Given the description of an element on the screen output the (x, y) to click on. 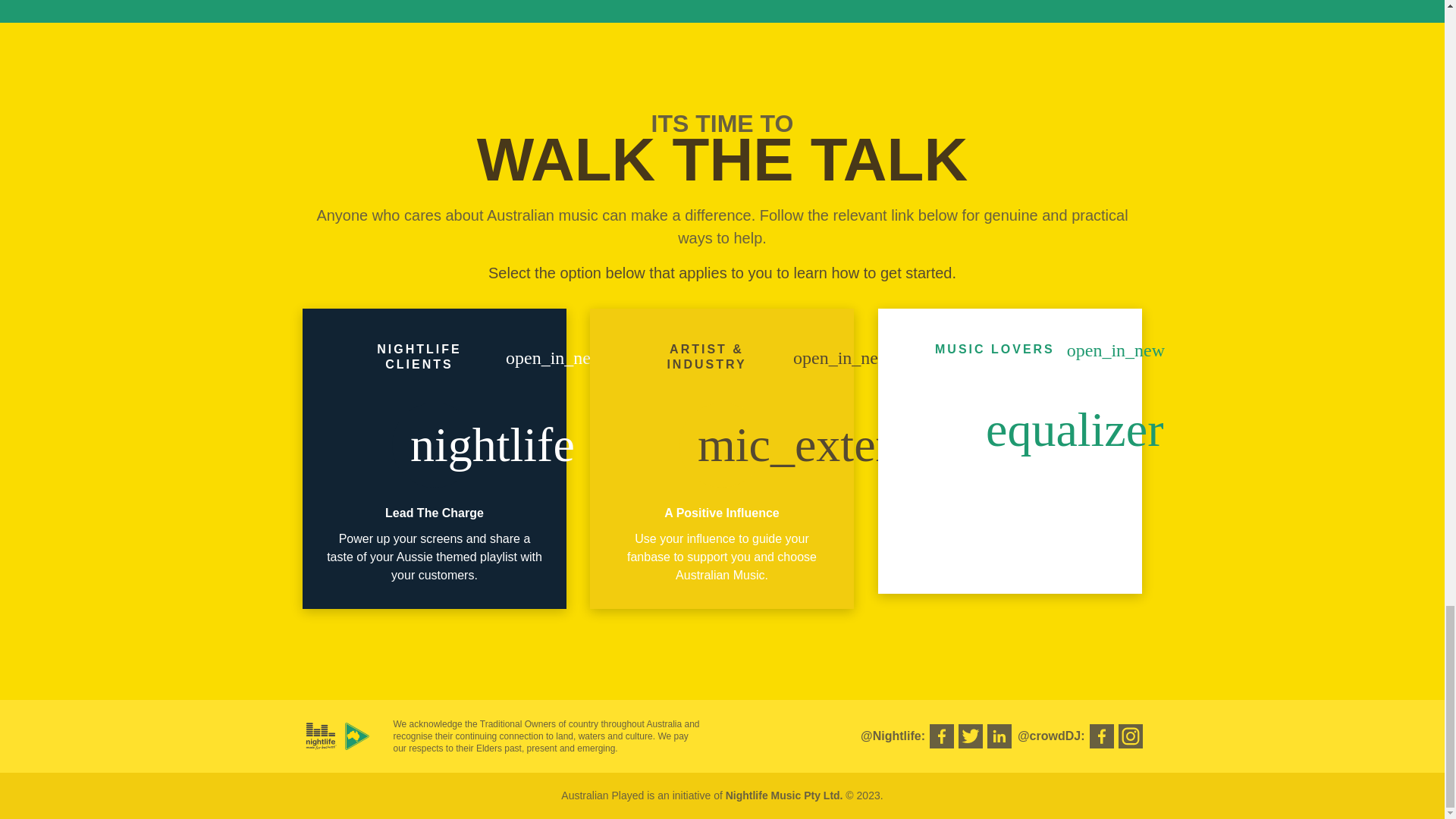
Nightlife Music Pty Ltd. (784, 795)
